Given the description of an element on the screen output the (x, y) to click on. 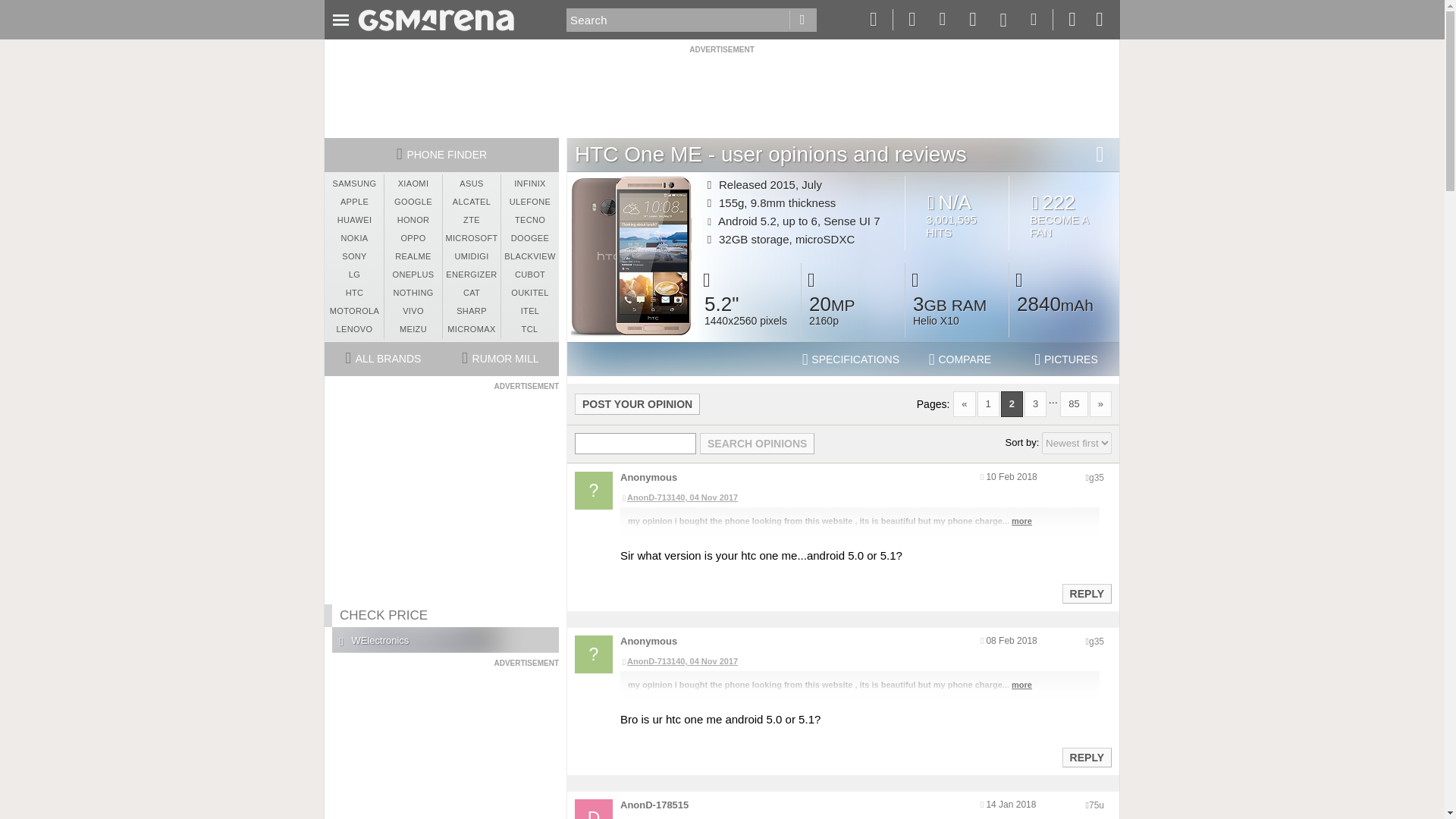
Encoded anonymized location (1096, 477)
Encoded anonymized location (1096, 805)
Previous page (964, 403)
Reply to this post (1086, 593)
COMPARE (960, 359)
more (1021, 520)
Next page (1100, 403)
HTC One ME phone specifications (850, 359)
85 (1073, 403)
Sort comments by (1077, 443)
POST YOUR OPINION (637, 403)
AnonD-713140, 04 Nov 2017 (859, 498)
3 (1035, 403)
PICTURES (1066, 359)
